Given the description of an element on the screen output the (x, y) to click on. 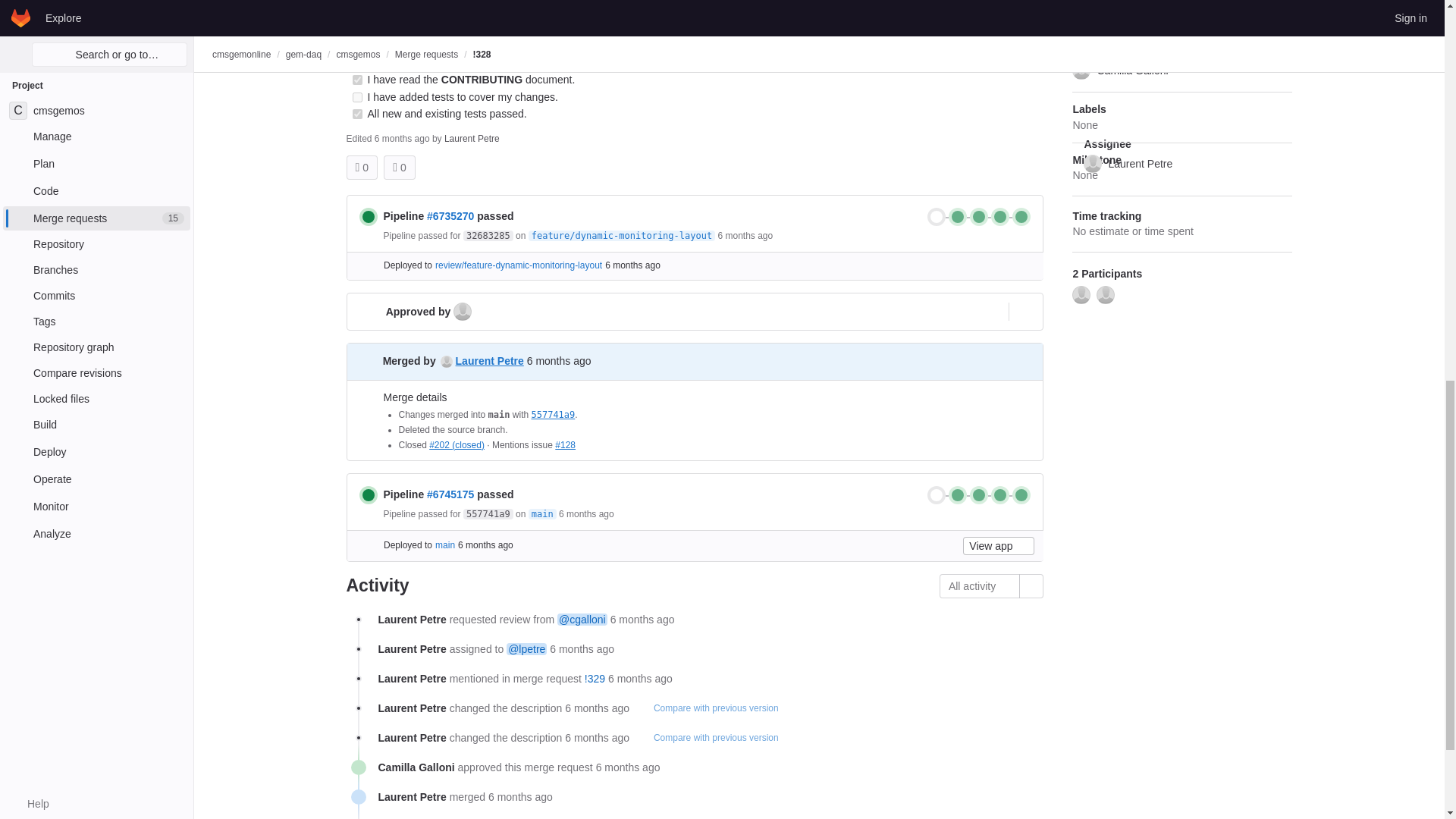
on (356, 80)
on (356, 46)
on (356, 97)
on (356, 113)
Passed (368, 217)
on (356, 62)
on (356, 29)
